Given the description of an element on the screen output the (x, y) to click on. 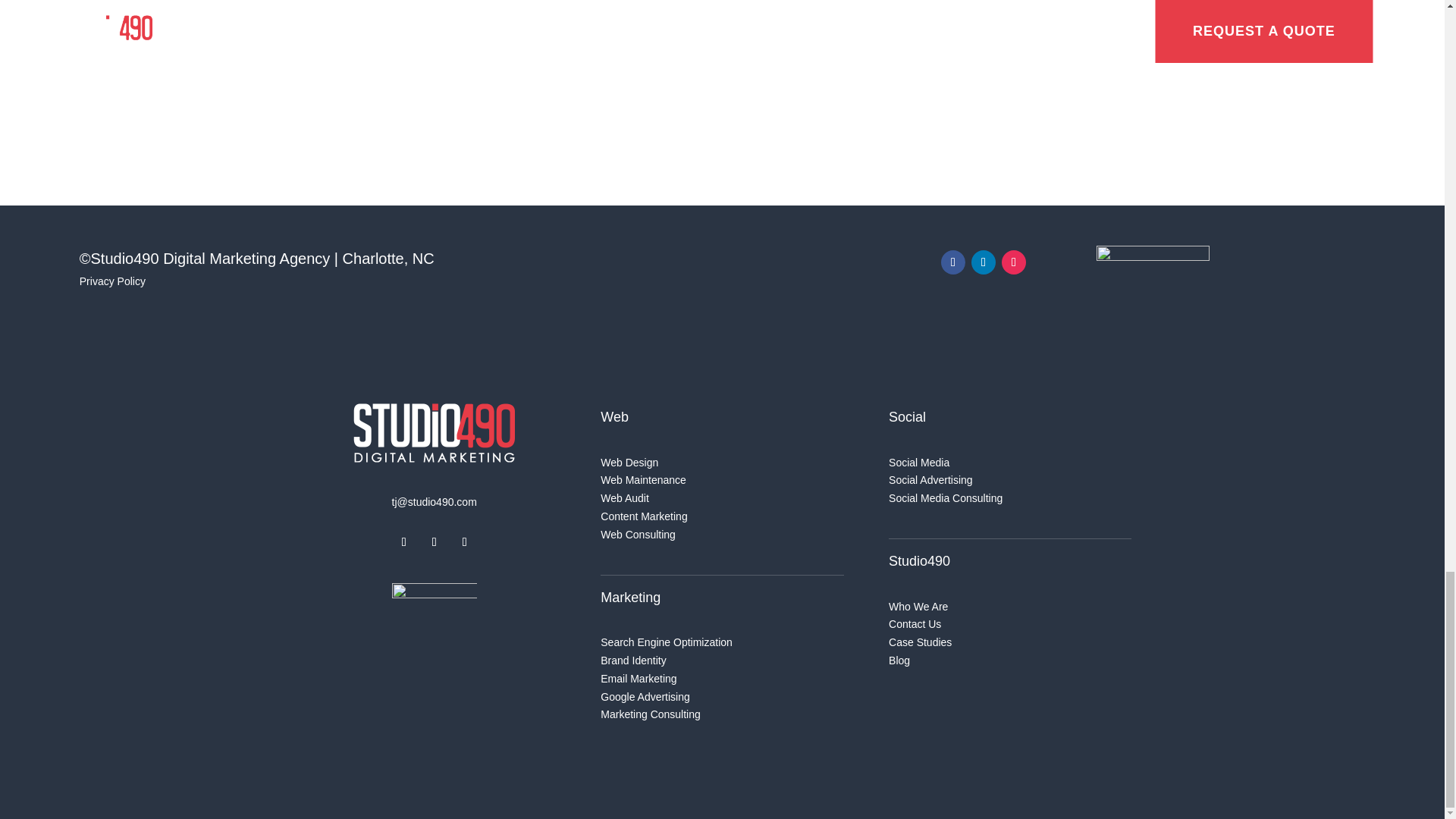
Follow on Facebook (403, 541)
Follow on LinkedIn (464, 541)
Follow on LinkedIn (983, 262)
Follow on Instagram (1013, 262)
Privacy Policy (112, 281)
Follow on Instagram (434, 541)
Follow on Facebook (952, 262)
Davon Testimony Video (937, 74)
WhiteS490Logo2023 (434, 432)
